Given the description of an element on the screen output the (x, y) to click on. 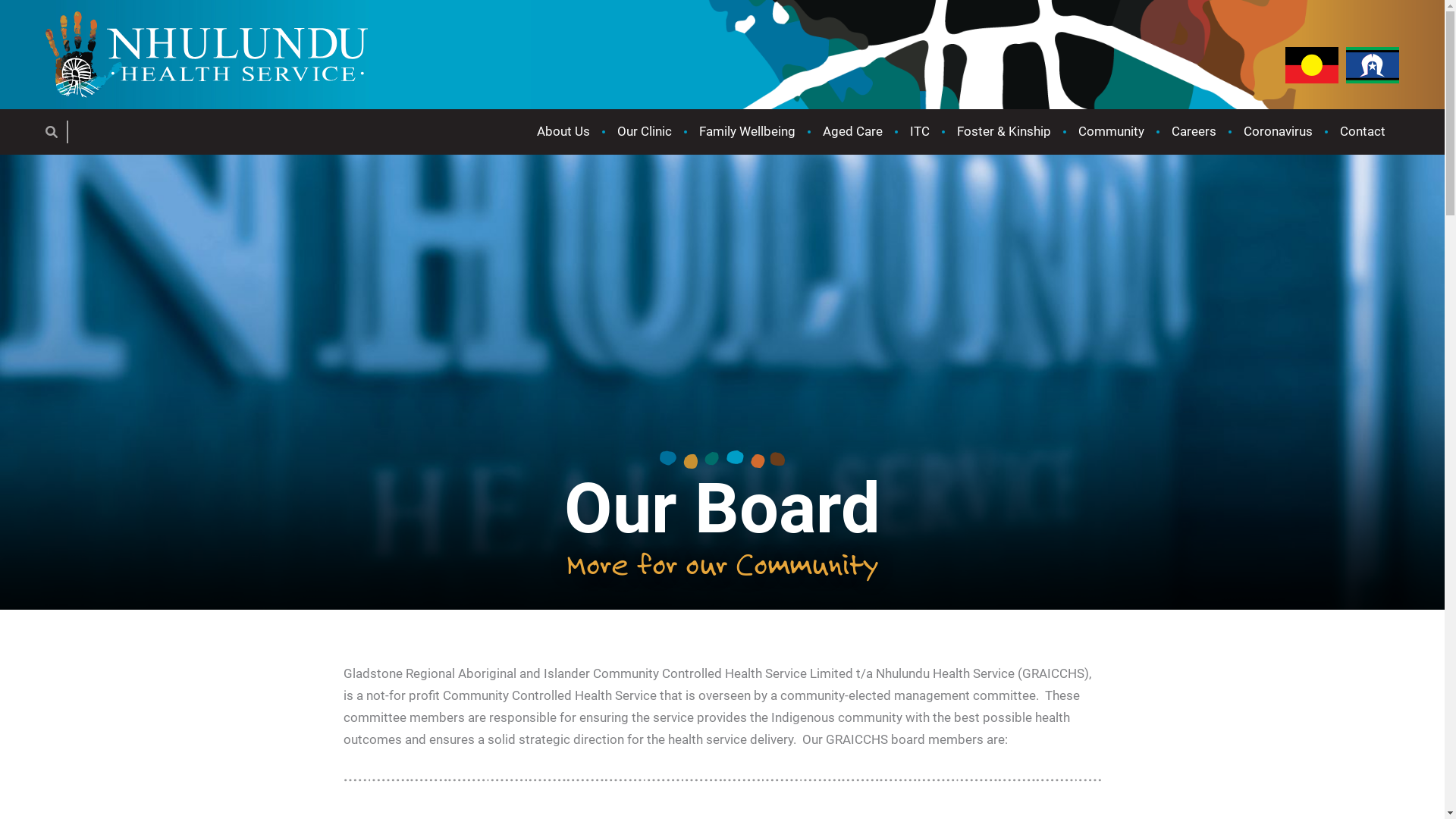
Foster & Kinship Element type: text (1003, 131)
Careers Element type: text (1193, 131)
Coronavirus Element type: text (1278, 131)
Aged Care Element type: text (852, 131)
Contact Element type: text (1362, 131)
About Us Element type: text (563, 131)
ITC Element type: text (919, 131)
Our Clinic Element type: text (644, 131)
Family Wellbeing Element type: text (747, 131)
Community Element type: text (1110, 131)
Search Element type: hover (54, 131)
